Given the description of an element on the screen output the (x, y) to click on. 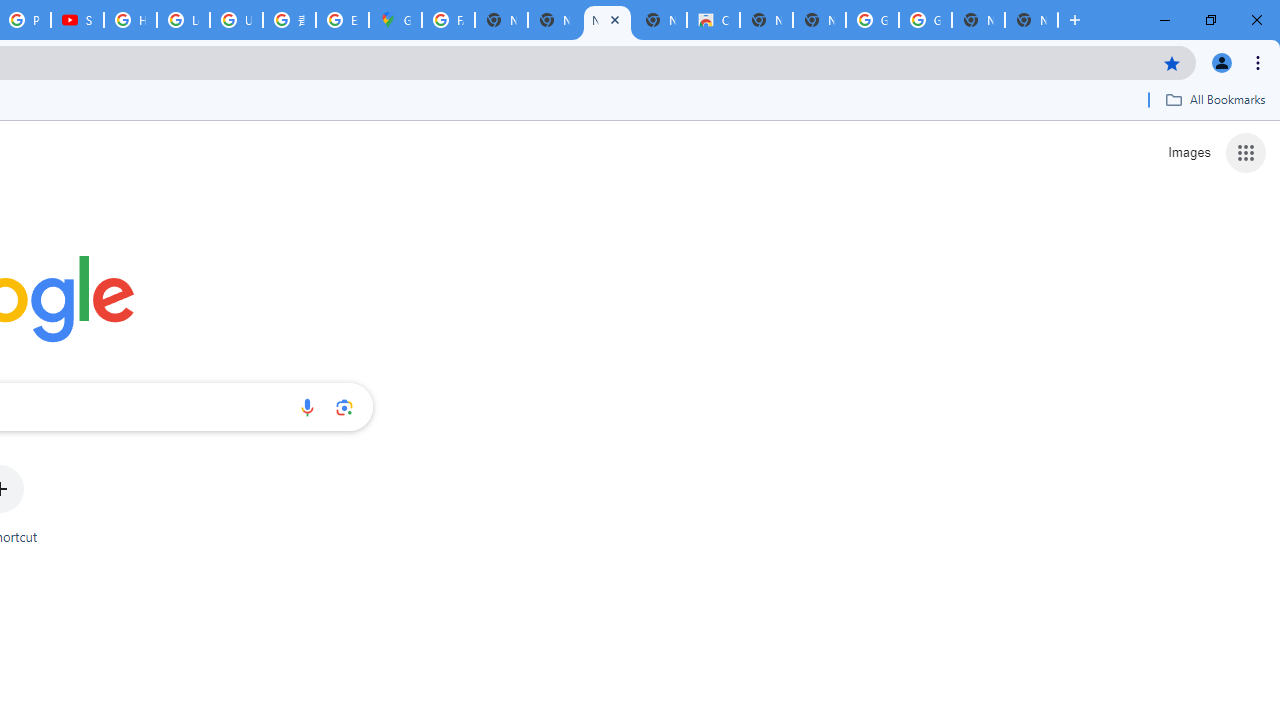
Google Images (925, 20)
Chrome Web Store (713, 20)
Google Images (872, 20)
Subscriptions - YouTube (77, 20)
New Tab (1031, 20)
